Given the description of an element on the screen output the (x, y) to click on. 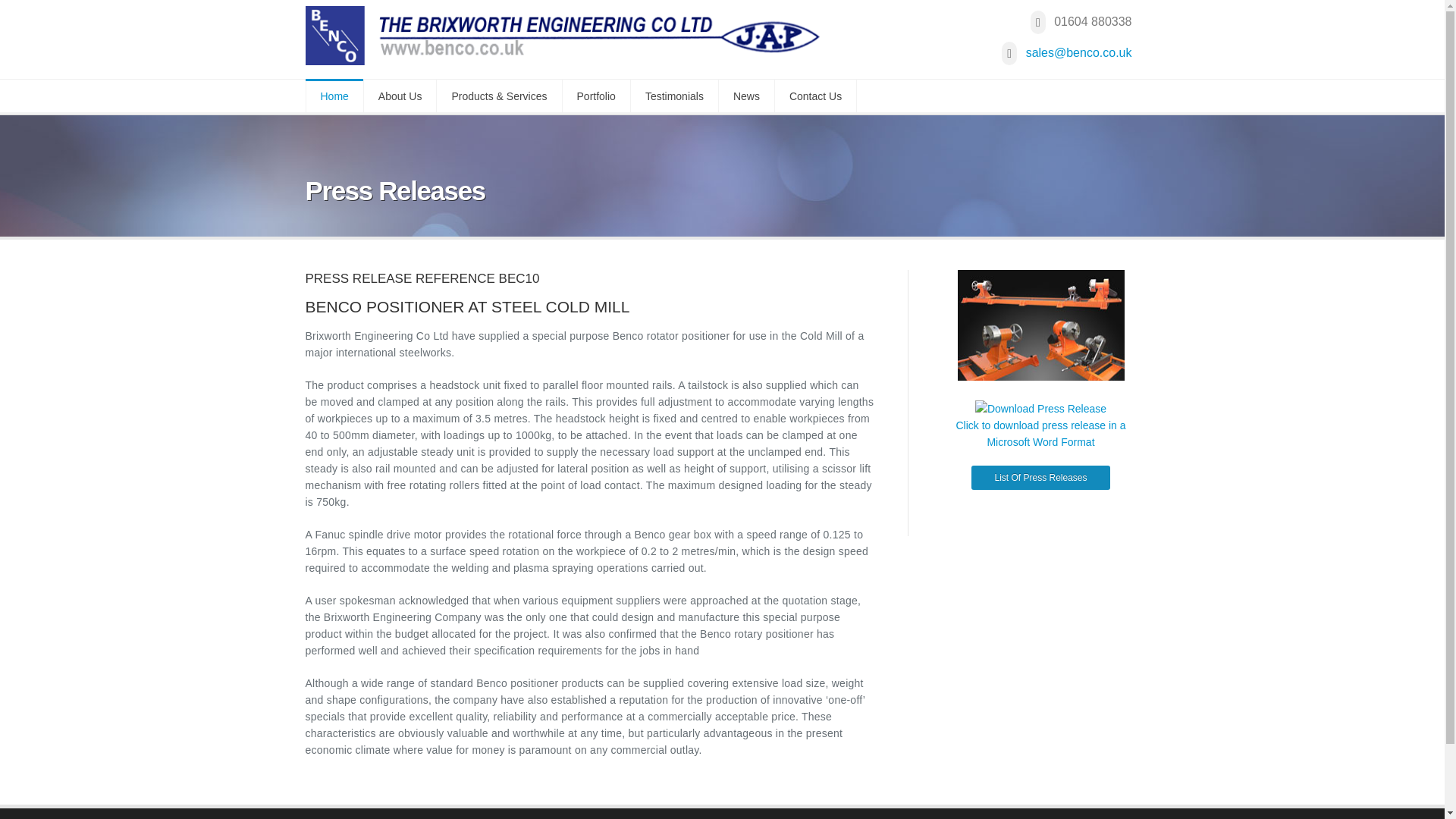
News (745, 95)
List Of Press Releases (1040, 476)
Contact Us (815, 95)
Testimonials (674, 95)
Portfolio (596, 95)
About Us (400, 95)
List Of Press Releases (1040, 477)
Home (333, 95)
Click to download press release in a Microsoft Word Format (1040, 433)
